Given the description of an element on the screen output the (x, y) to click on. 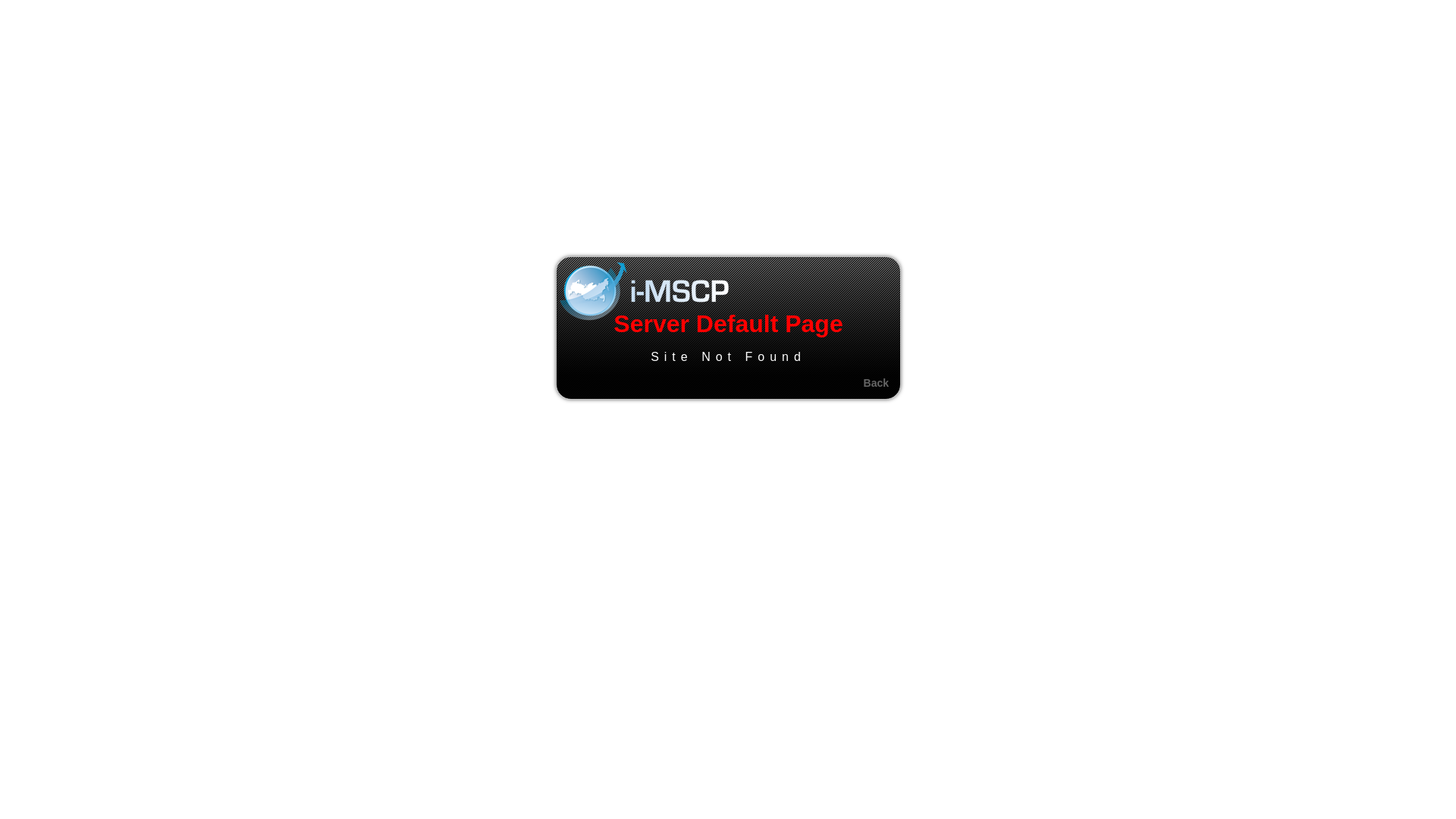
Back Element type: text (875, 382)
